Given the description of an element on the screen output the (x, y) to click on. 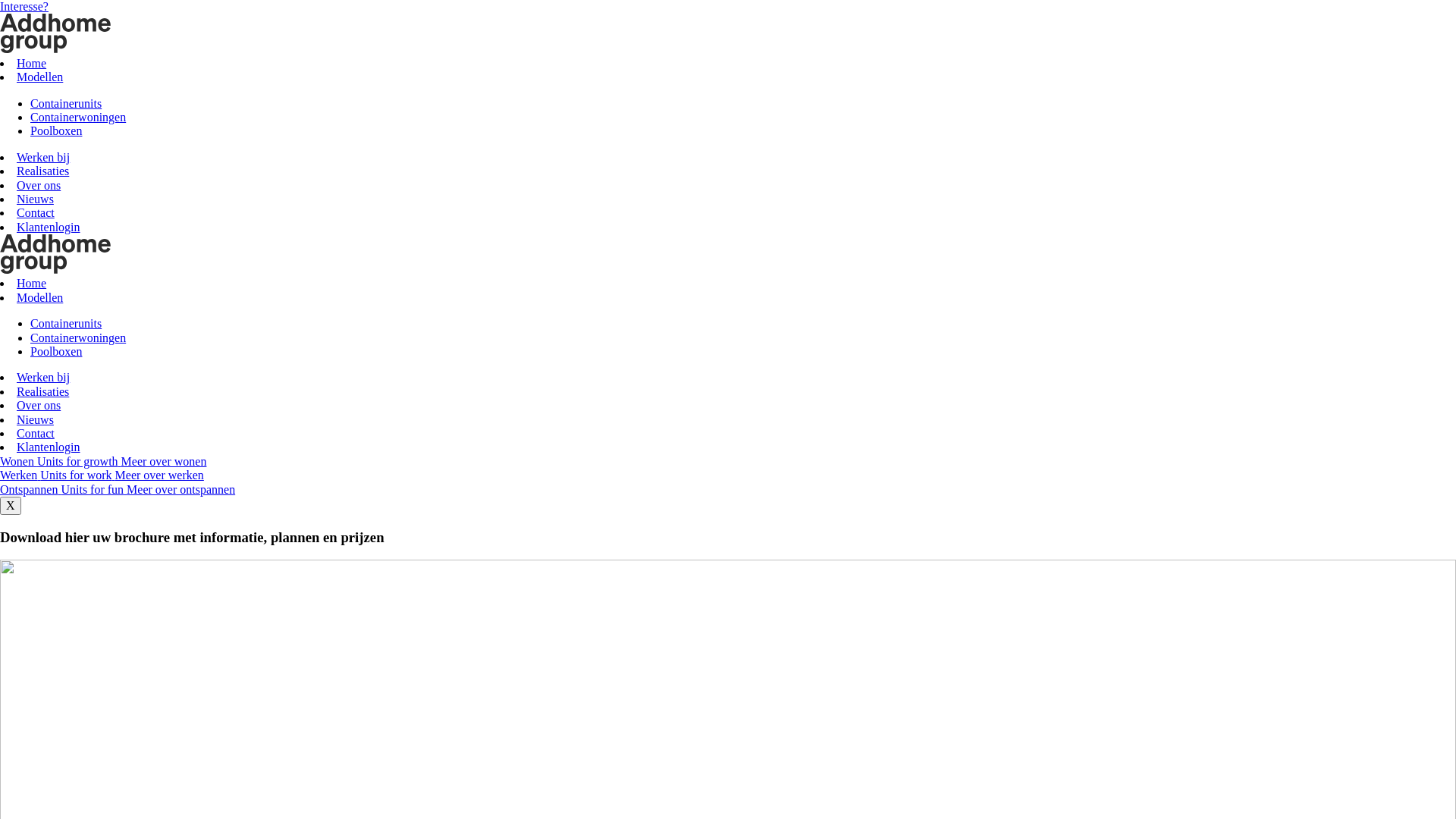
Wonen Units for growth Meer over wonen Element type: text (103, 461)
Over ons Element type: text (38, 184)
Realisaties Element type: text (42, 391)
Werken bij Element type: text (42, 156)
Modellen Element type: text (39, 76)
Ontspannen Units for fun Meer over ontspannen Element type: text (117, 489)
Modellen Element type: text (39, 297)
Containerunits Element type: text (65, 103)
Contact Element type: text (35, 432)
Poolboxen Element type: text (55, 351)
Poolboxen Element type: text (55, 130)
Klantenlogin Element type: text (48, 226)
Containerwoningen Element type: text (77, 116)
Nieuws Element type: text (34, 198)
X Element type: text (10, 505)
Containerunits Element type: text (65, 322)
Realisaties Element type: text (42, 170)
Werken Units for work Meer over werken Element type: text (101, 474)
Nieuws Element type: text (34, 419)
Containerwoningen Element type: text (77, 337)
Interesse? Element type: text (24, 6)
Home Element type: text (31, 282)
Over ons Element type: text (38, 404)
Contact Element type: text (35, 212)
Werken bij Element type: text (42, 376)
Home Element type: text (31, 62)
Klantenlogin Element type: text (48, 446)
